Given the description of an element on the screen output the (x, y) to click on. 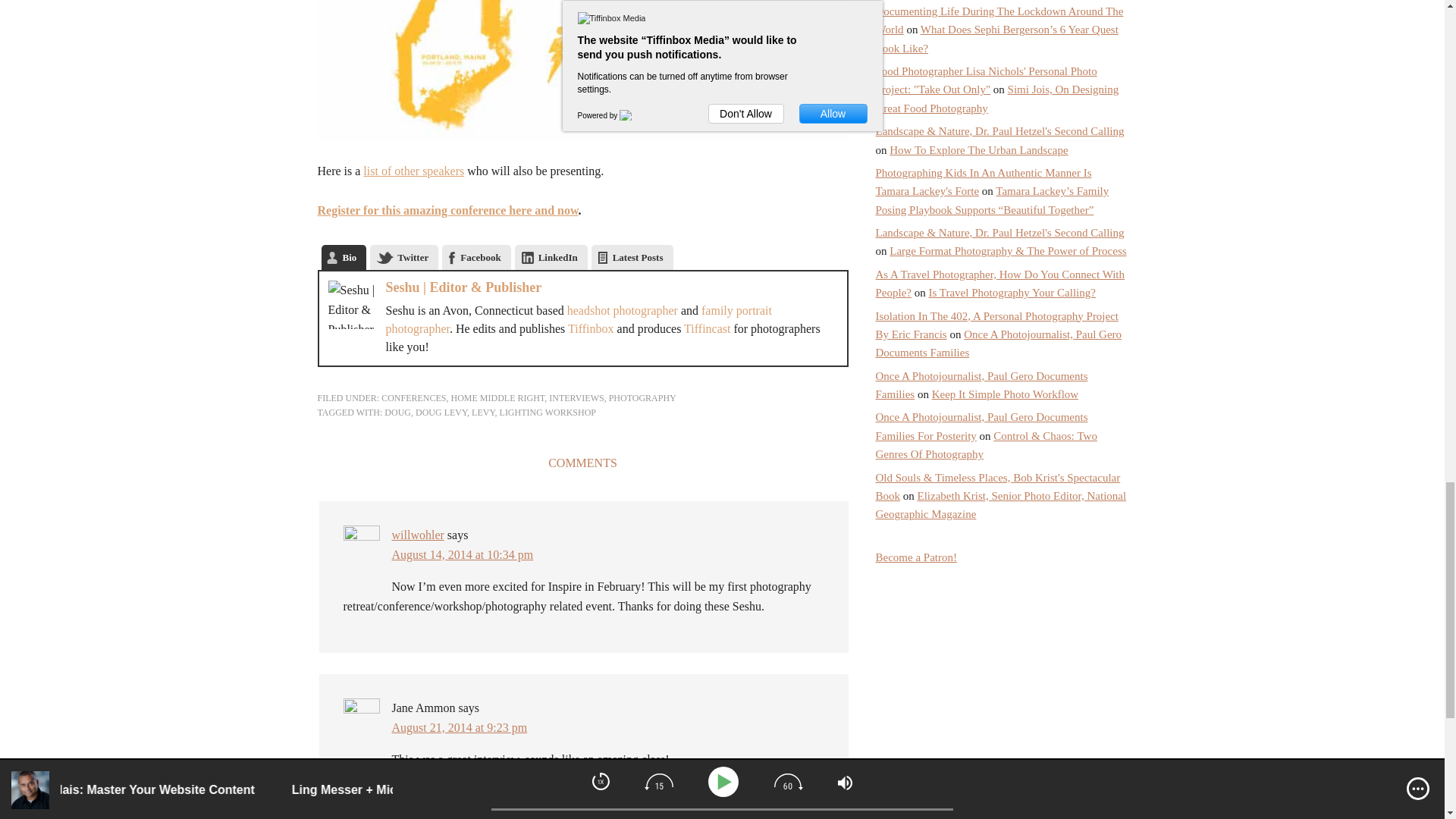
Bio (343, 257)
list of other speakers (413, 170)
Register for this amazing conference here and now (447, 210)
Twitter (403, 257)
